Given the description of an element on the screen output the (x, y) to click on. 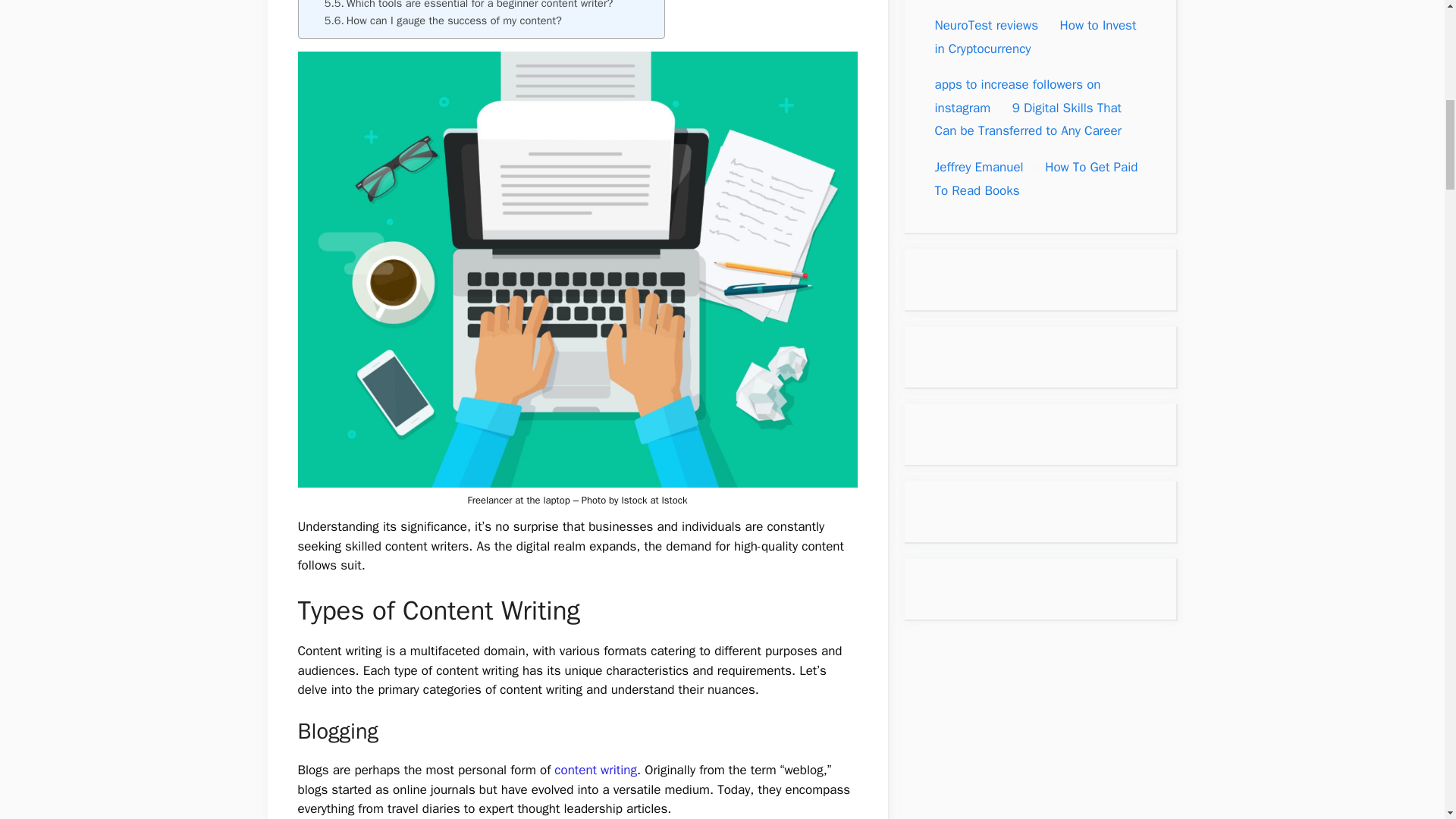
content writing (593, 770)
Which tools are essential for a beginner content writer? (468, 6)
How can I gauge the success of my content? (443, 20)
